Given the description of an element on the screen output the (x, y) to click on. 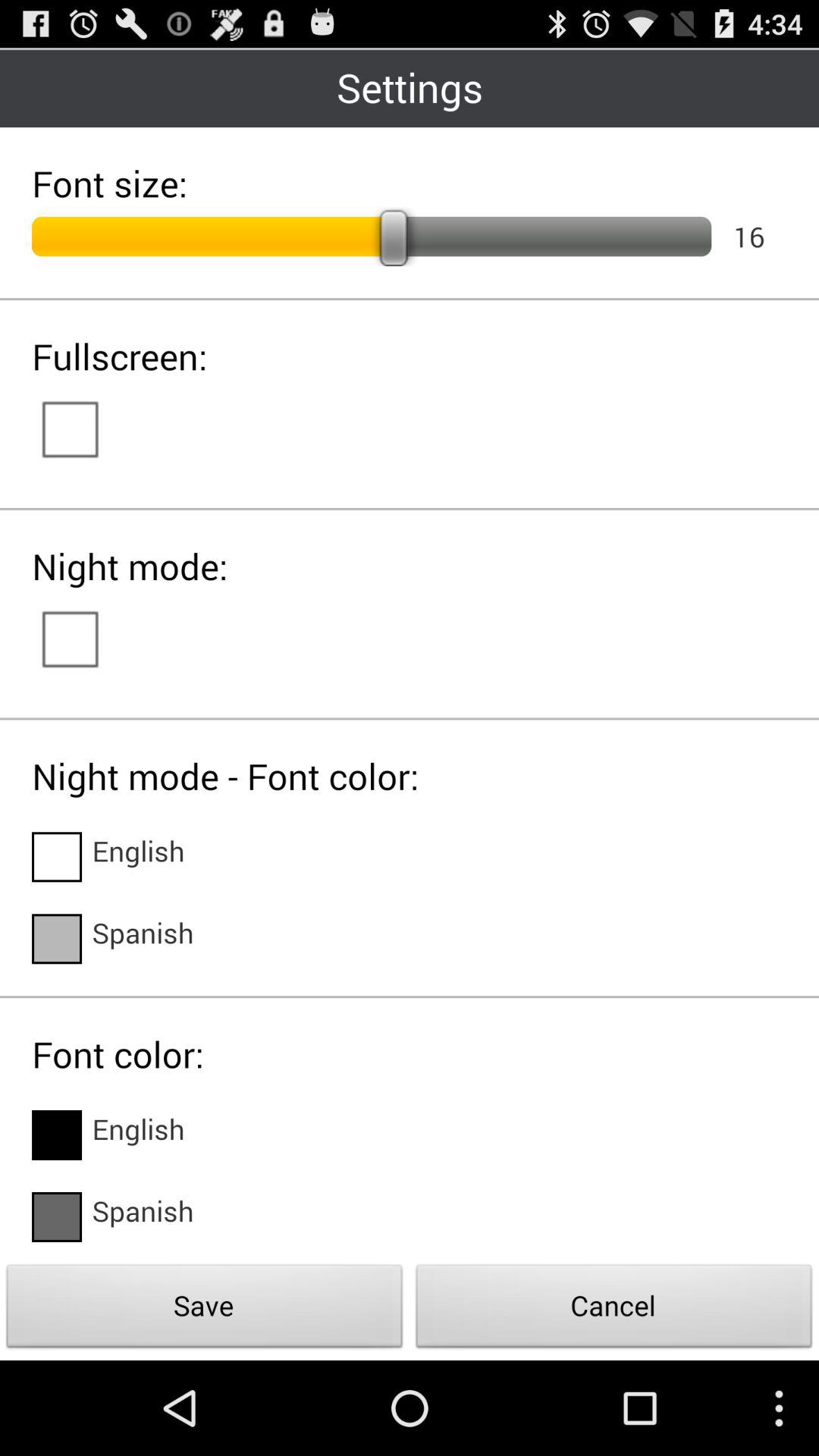
full screen option (85, 428)
